Given the description of an element on the screen output the (x, y) to click on. 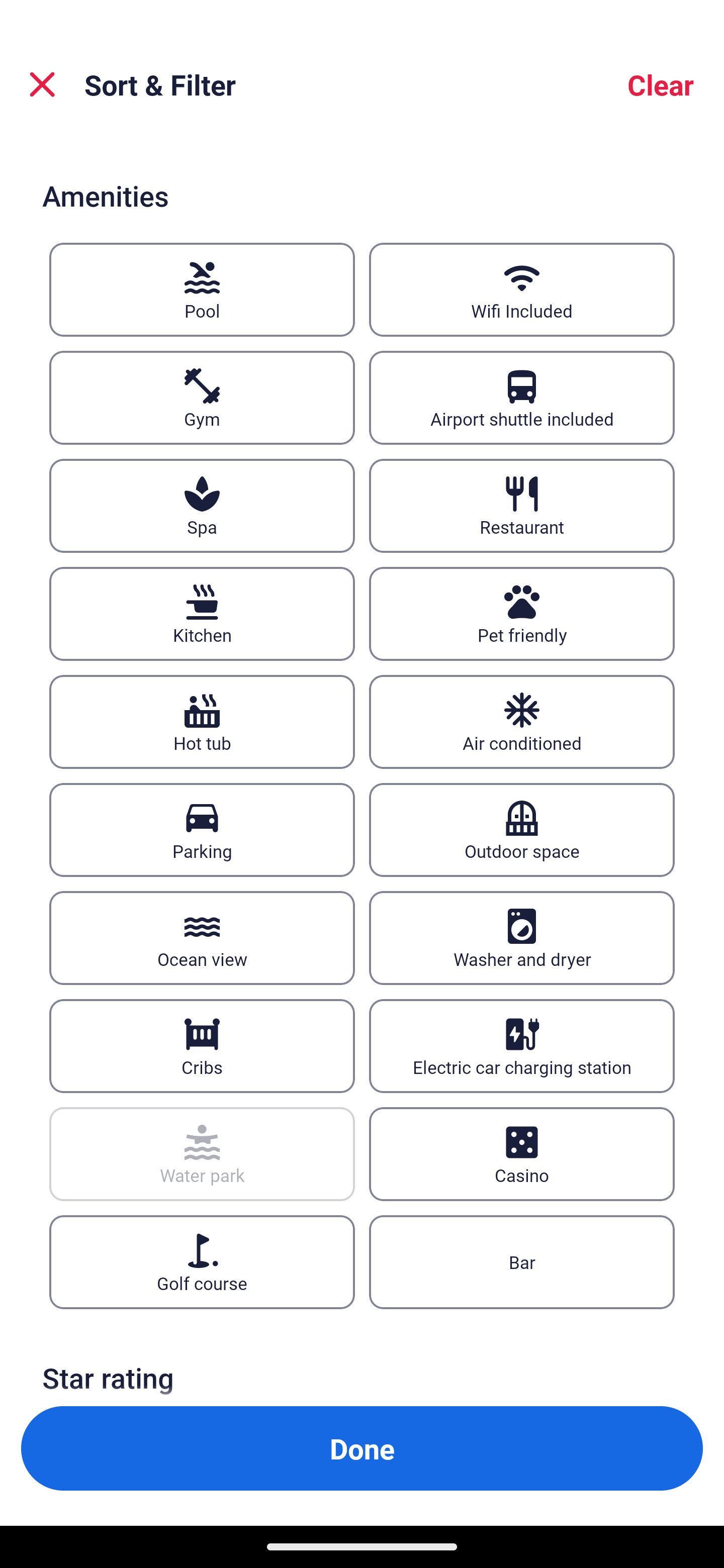
Close Sort and Filter (42, 84)
Clear (660, 84)
Pool (201, 290)
Wifi Included (521, 290)
Gym (201, 398)
Airport shuttle included (521, 398)
Spa (201, 506)
Restaurant (521, 506)
Kitchen (201, 613)
Pet friendly (521, 613)
Hot tub (201, 721)
Air conditioned (521, 721)
Parking (201, 829)
Outdoor space (521, 829)
Ocean view (201, 937)
Washer and dryer (521, 937)
Cribs (201, 1045)
Electric car charging station (521, 1045)
Water park (201, 1154)
Casino (521, 1154)
Golf course (201, 1262)
Bar (521, 1262)
Apply and close Sort and Filter Done (361, 1448)
